Given the description of an element on the screen output the (x, y) to click on. 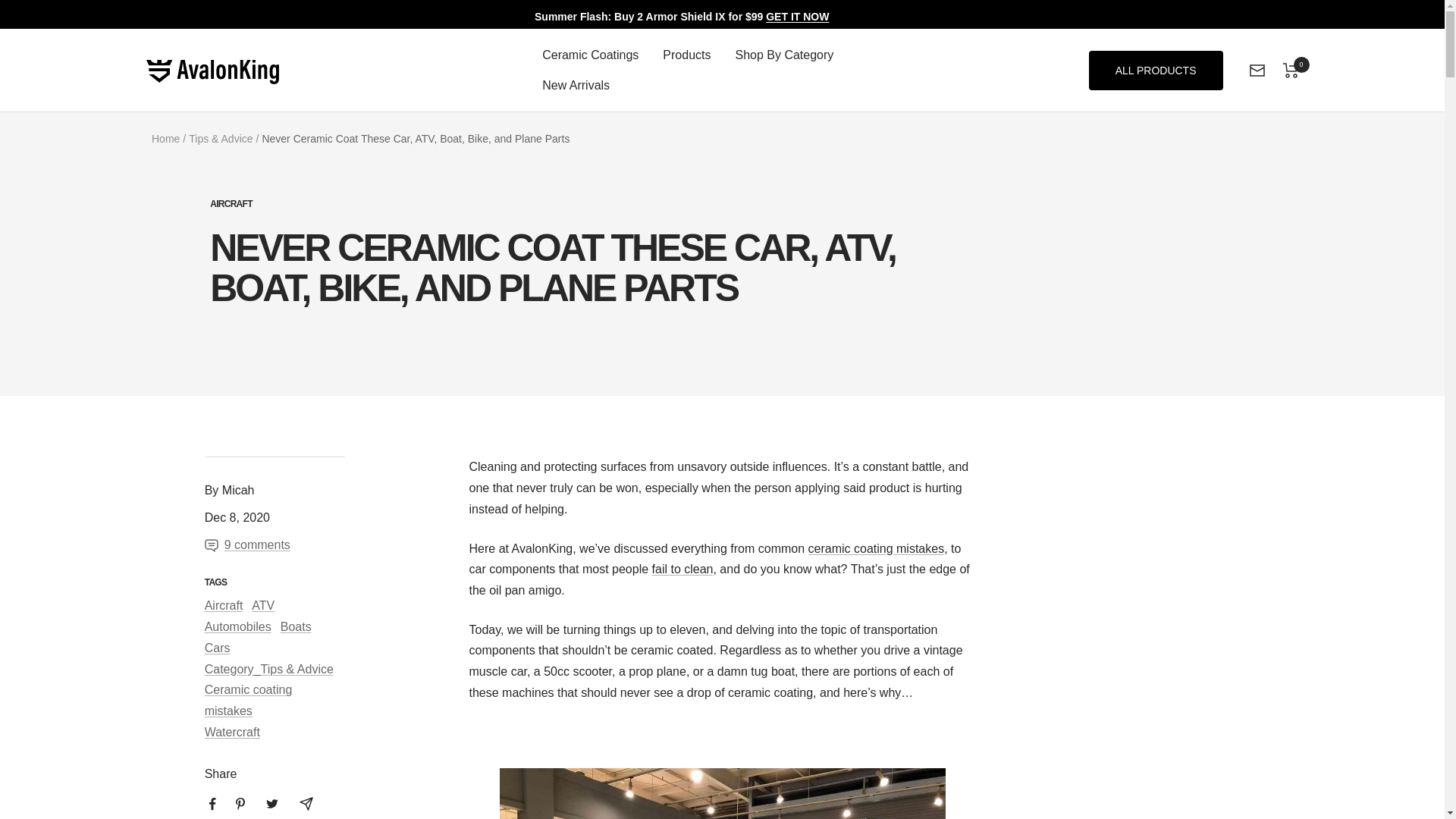
Boats (296, 626)
Cars (217, 647)
ALL PRODUCTS (1156, 70)
New Arrivals (575, 85)
Automobiles (237, 626)
Ceramic coating mistakes (248, 700)
ATV (263, 604)
Watercraft (232, 731)
Newsletter (1257, 70)
AvalonKing (325, 71)
